Given the description of an element on the screen output the (x, y) to click on. 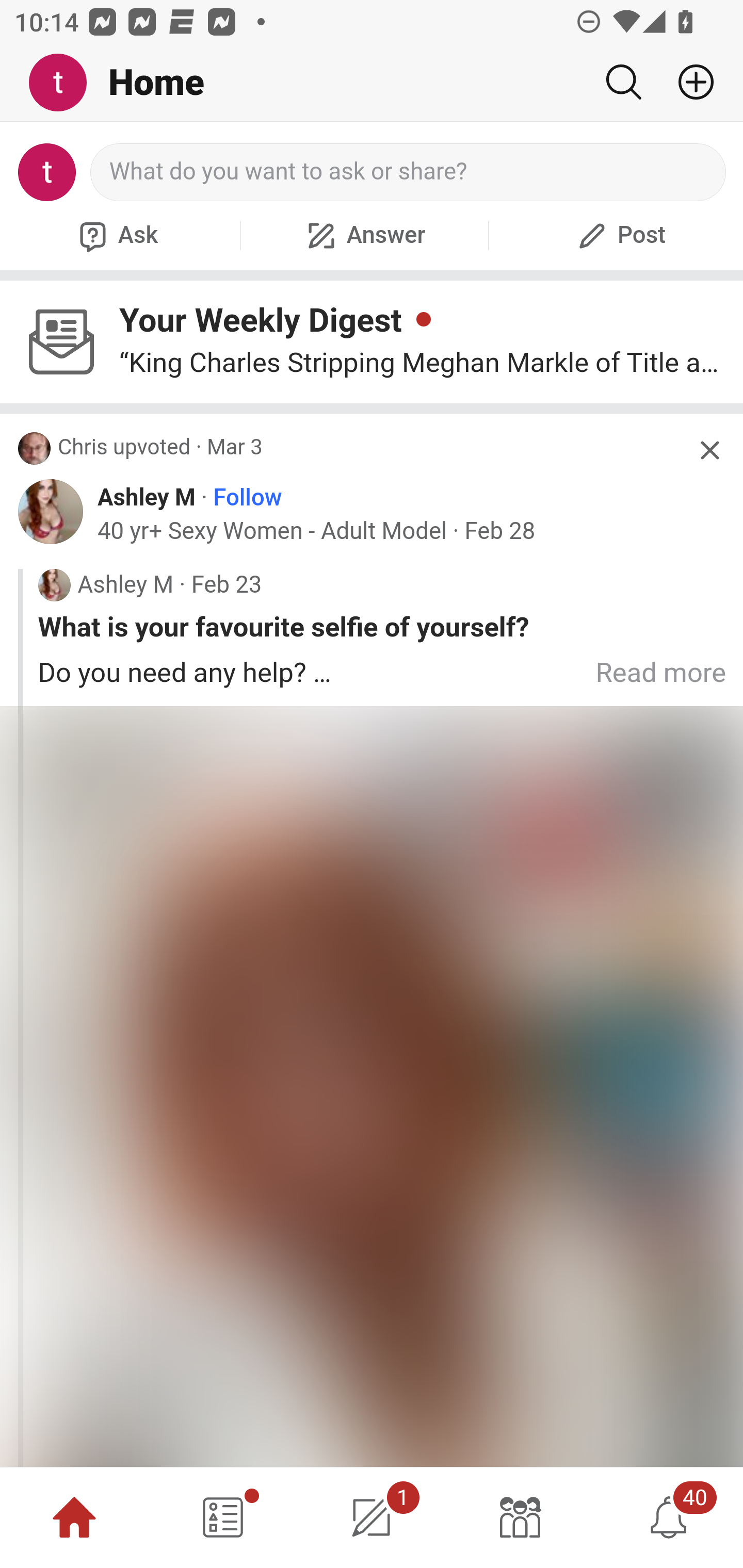
Me Home Search Add (371, 82)
Me (64, 83)
Search (623, 82)
Add (688, 82)
What do you want to ask or share? (408, 172)
Ask (116, 234)
Answer (364, 234)
Post (618, 234)
Hide (709, 449)
Profile photo for Chris Harrington (34, 448)
Chris (82, 448)
Mar 3 (234, 447)
Profile photo for Ashley M (50, 512)
Ashley M (146, 497)
Ashley M (146, 498)
Follow (248, 498)
Feb 28 (499, 531)
Feb 28 (499, 531)
Profile photo for Ashley M (54, 584)
Feb 23 (226, 584)
Feb 23 (226, 584)
1 (371, 1517)
40 (668, 1517)
